Given the description of an element on the screen output the (x, y) to click on. 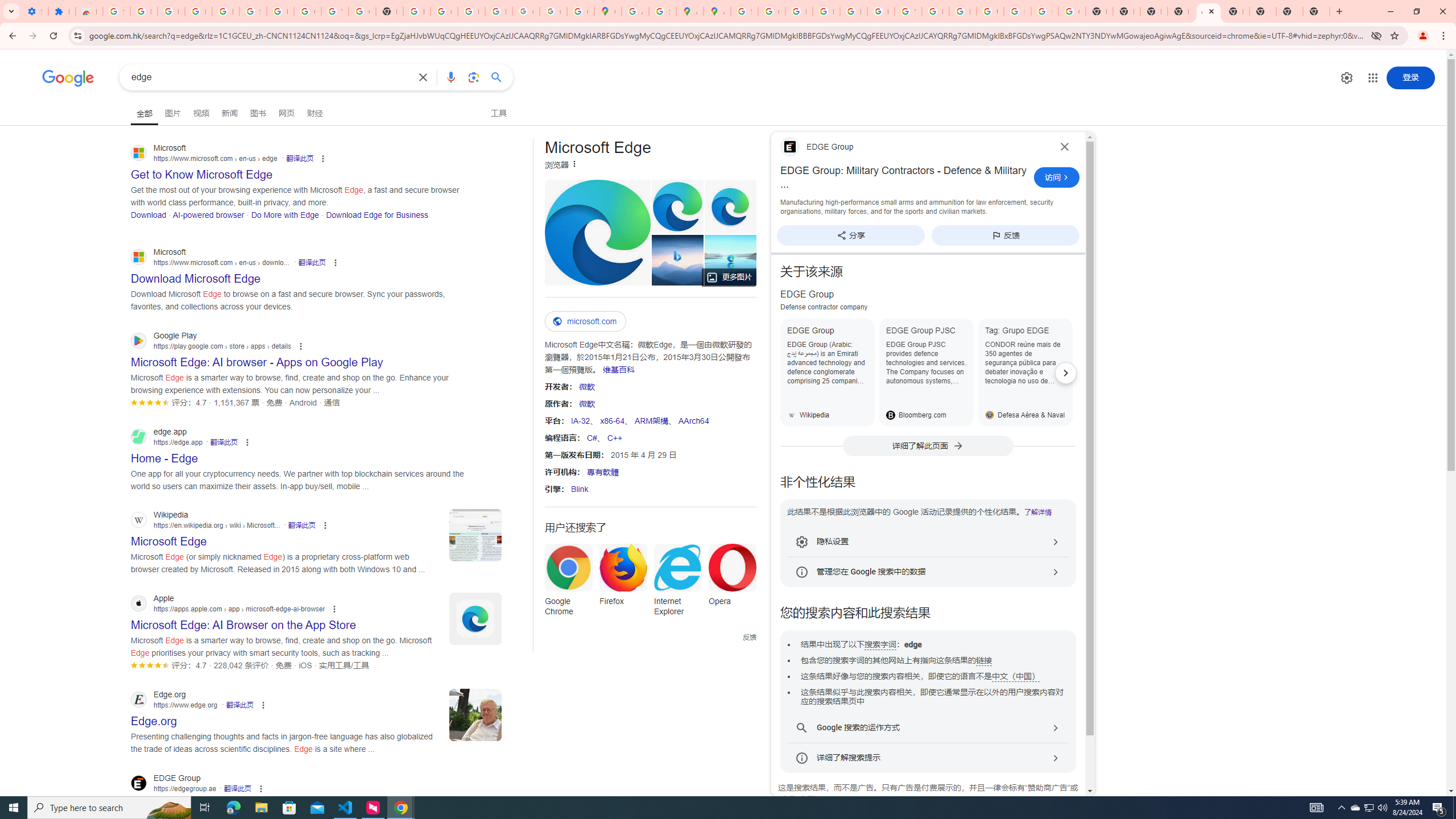
YouTube (334, 11)
Home - Microsoft Edge Blog (730, 260)
Home - Microsoft Edge Blog (730, 260)
AArch64 (693, 420)
Sign in - Google Accounts (253, 11)
Google Images (1071, 11)
Download (148, 214)
